Given the description of an element on the screen output the (x, y) to click on. 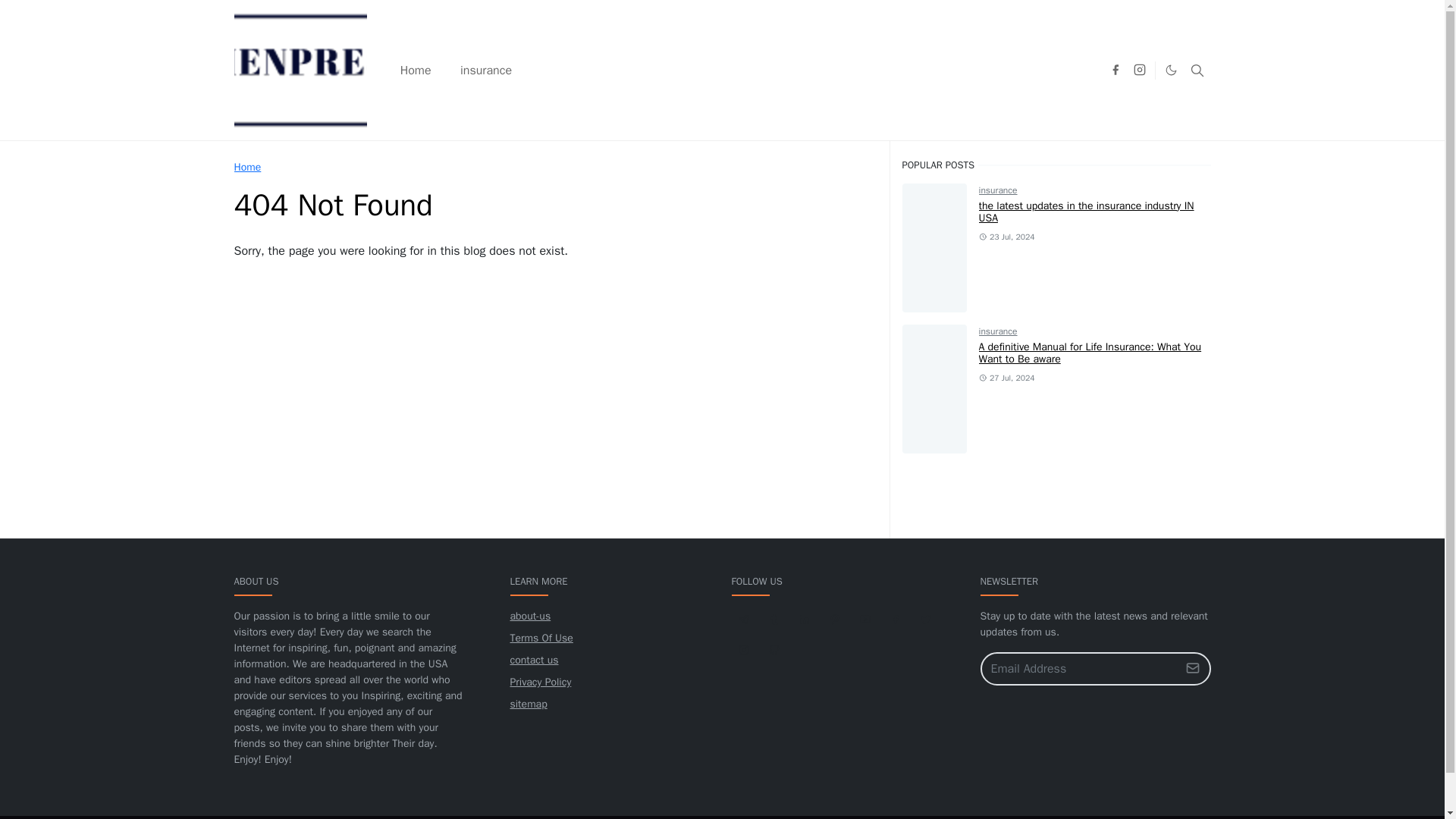
Home (415, 69)
insurance (485, 69)
Terms Of Use (540, 637)
insurance (997, 331)
the latest updates in the insurance industry IN USA (1085, 212)
Privacy Policy (539, 681)
Home (246, 166)
Home (246, 166)
about-us (529, 615)
sitemap (528, 703)
contact us (533, 659)
insurance (997, 190)
